Given the description of an element on the screen output the (x, y) to click on. 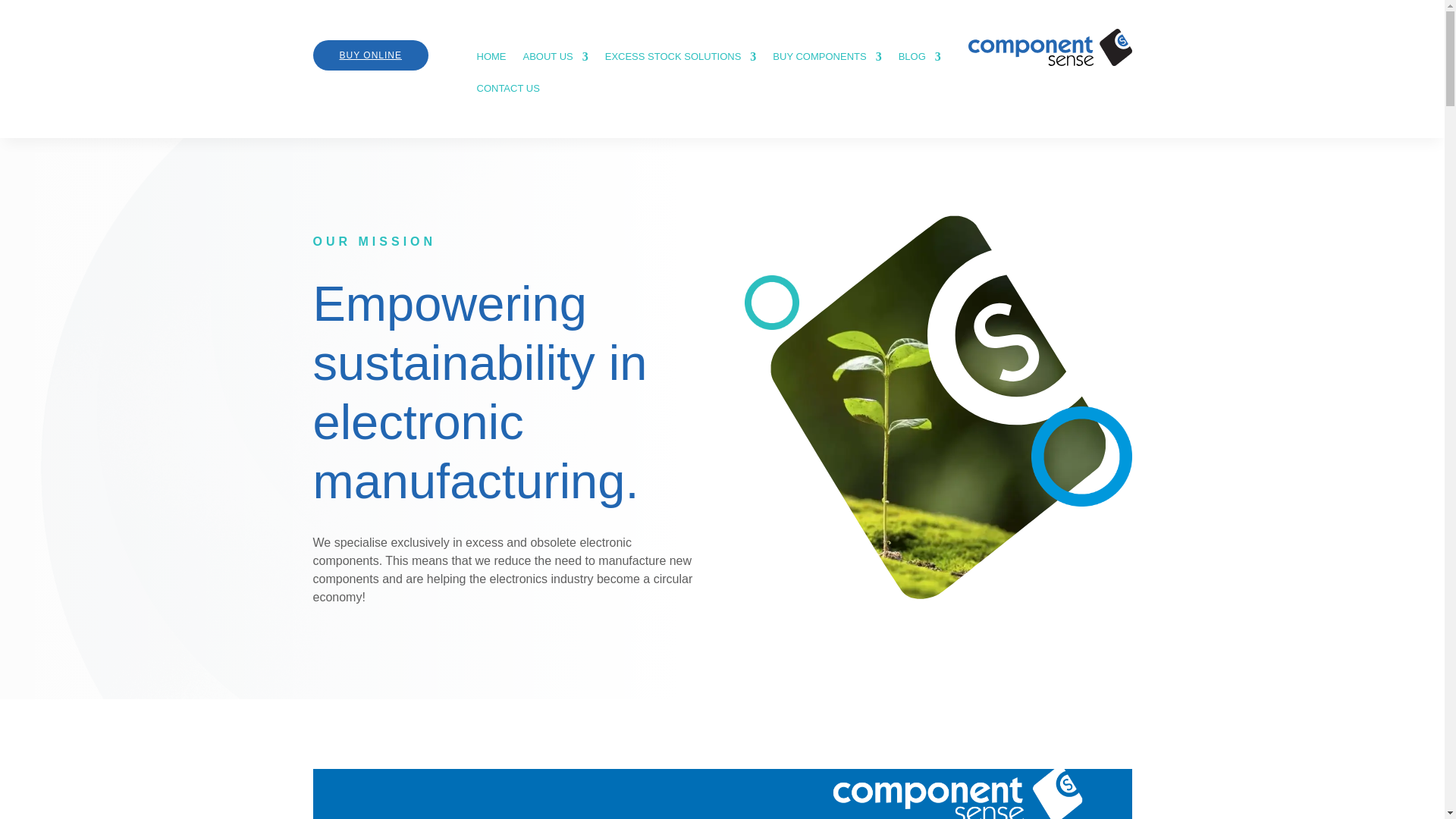
BUY COMPONENTS (826, 63)
HOME (490, 63)
Green ring (770, 302)
ABOUT US (555, 63)
Blue Ring (1081, 456)
BUY ONLINE (370, 55)
Component Sense Logo (1049, 47)
EXCESS STOCK SOLUTIONS (681, 63)
CONTACT US (507, 95)
BLOG (919, 63)
